Given the description of an element on the screen output the (x, y) to click on. 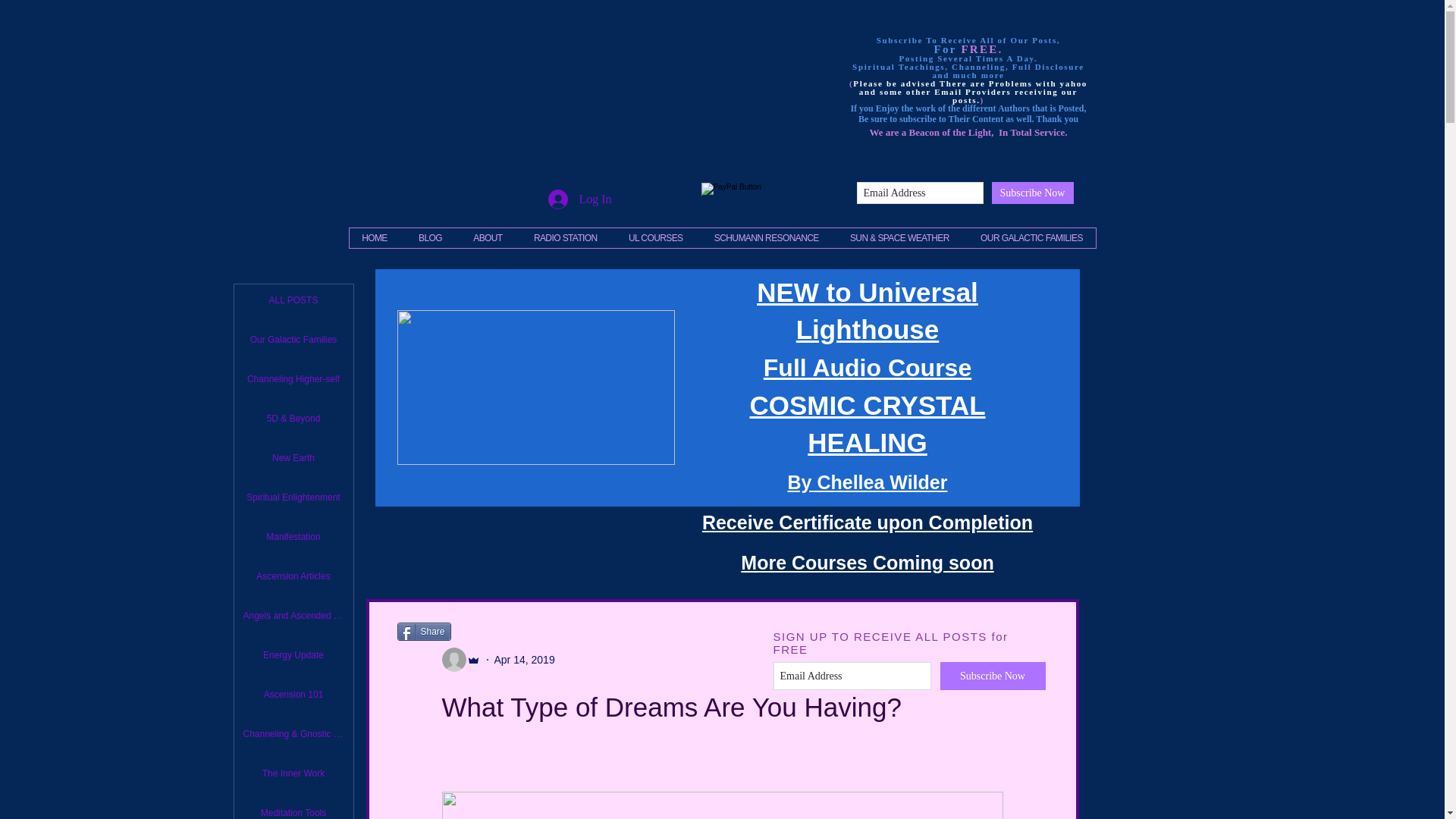
RADIO STATION (565, 238)
OUR GALACTIC FAMILIES (1031, 238)
Manifestation (292, 536)
The Inner Work (292, 773)
Share (424, 631)
Our Galactic Families (292, 339)
HOME (373, 238)
Spiritual Enlightenment (292, 497)
SCHUMANN RESONANCE (766, 238)
Share This Post (451, 402)
Subscribe Now (1032, 192)
Log In (579, 199)
New Earth (292, 458)
Meditation Tools (292, 807)
Channeling Higher-self (292, 378)
